Given the description of an element on the screen output the (x, y) to click on. 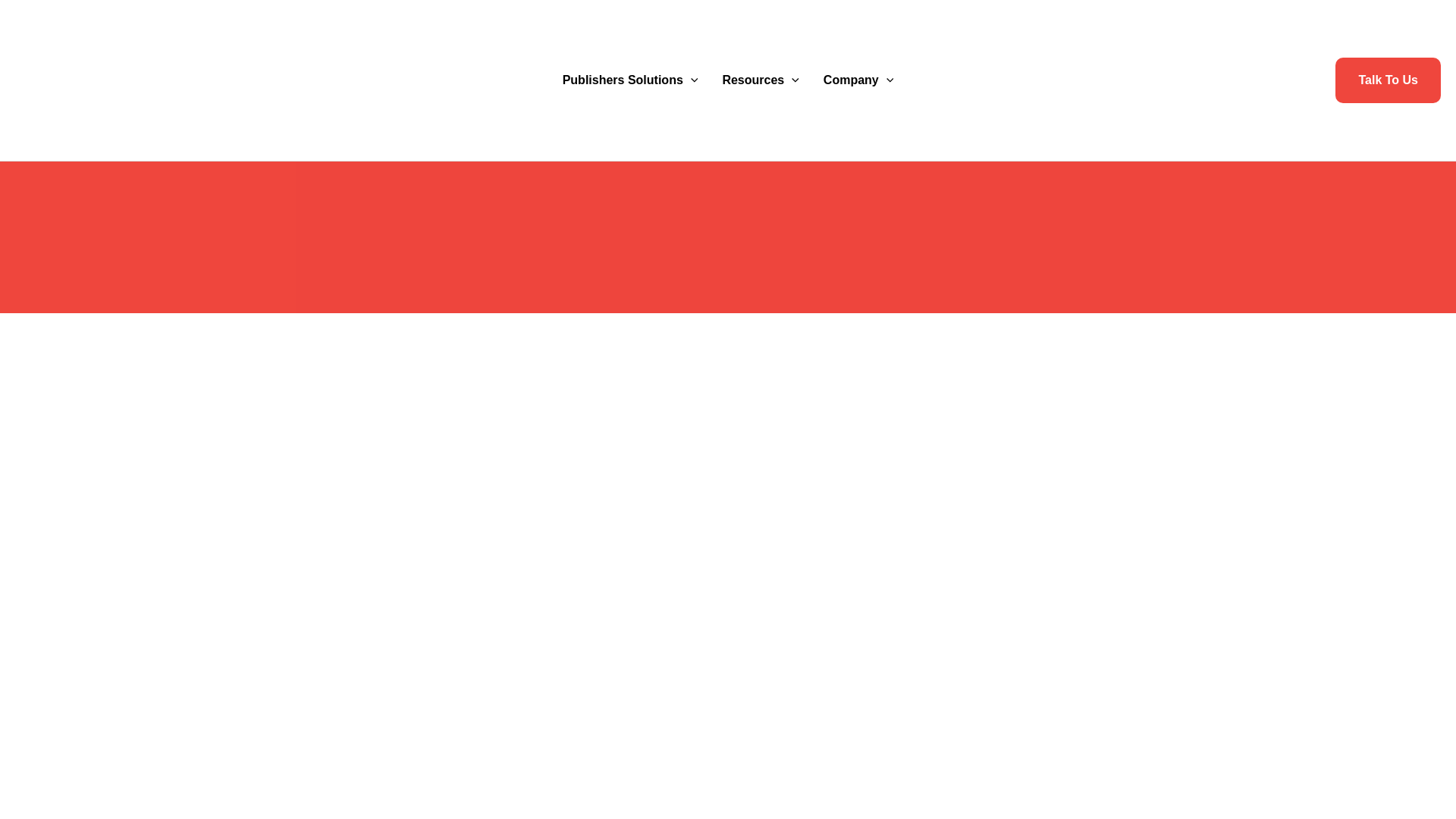
Company (857, 80)
Resources (760, 80)
Talk To Us (1388, 80)
Publishers Solutions (630, 80)
